Given the description of an element on the screen output the (x, y) to click on. 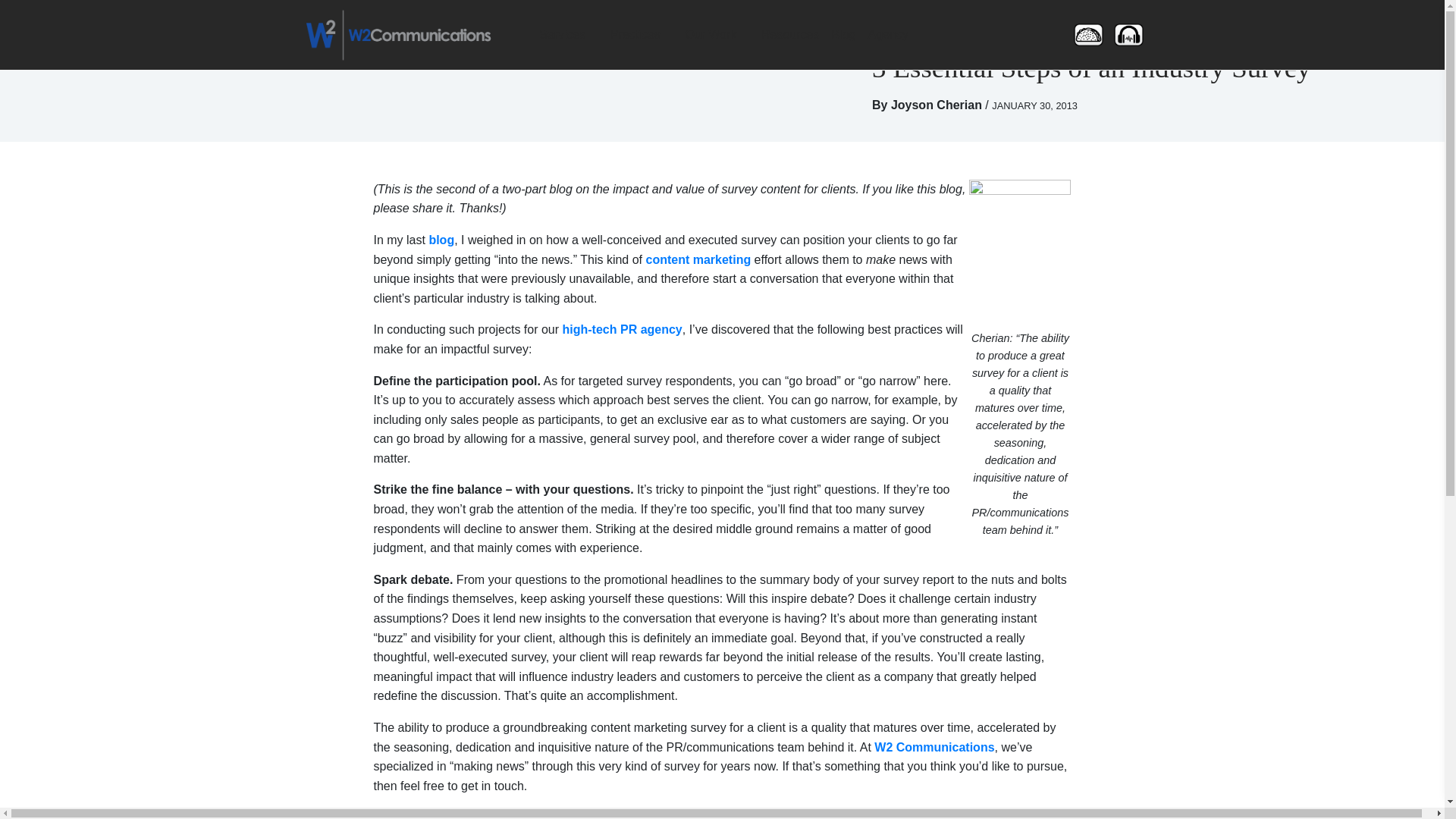
Practices (641, 34)
Blog (843, 34)
Agency (894, 34)
Services (568, 34)
Services (568, 34)
Resources (790, 34)
Practices (641, 34)
Our Work (716, 34)
W2 Communications (398, 33)
